Given the description of an element on the screen output the (x, y) to click on. 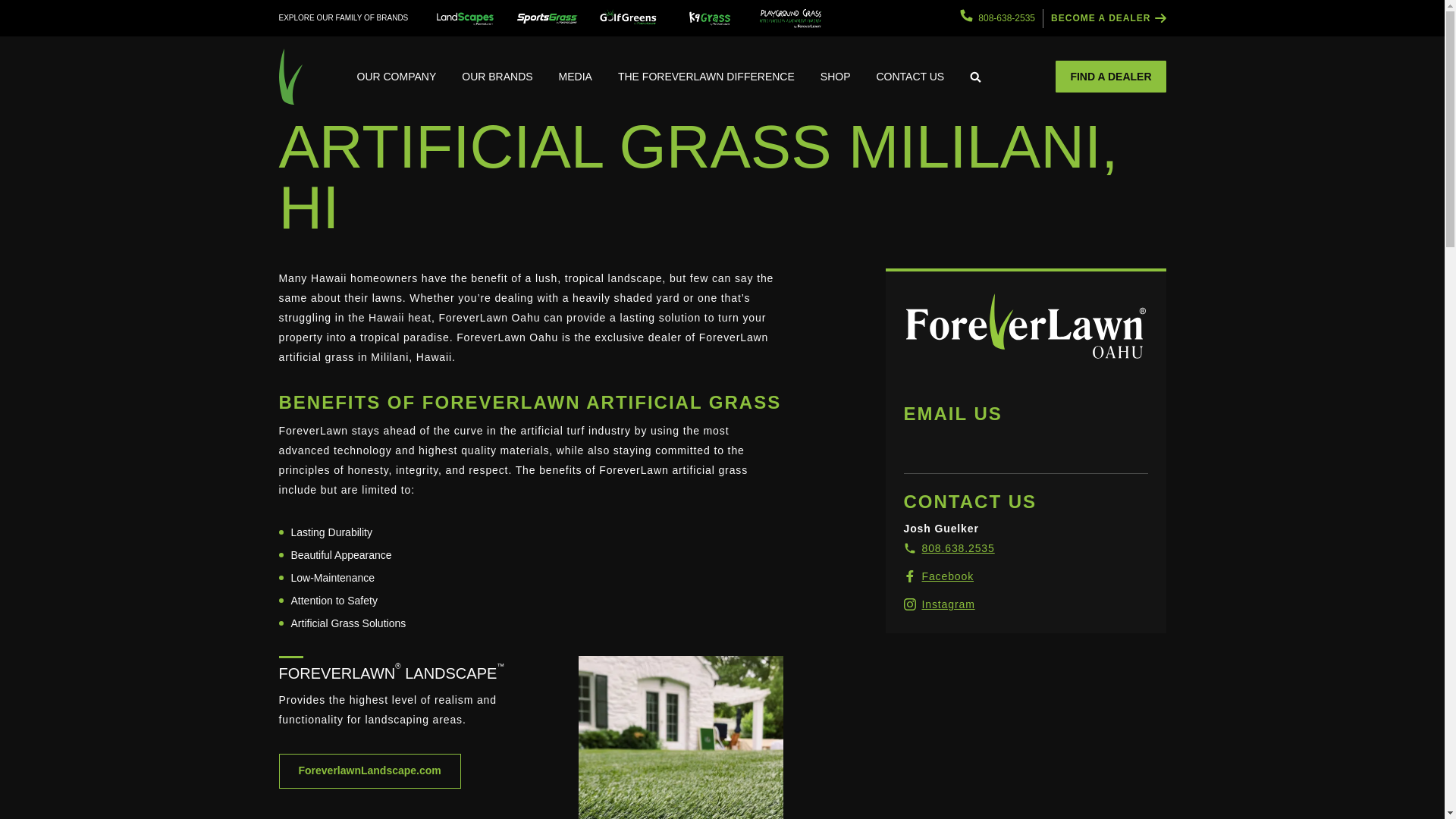
OUR BRANDS (496, 76)
THE FOREVERLAWN DIFFERENCE (706, 76)
Landscape01 (680, 737)
Instagram (939, 604)
OUR COMPANY (396, 76)
SHOP (835, 76)
CONTACT US (909, 76)
808-638-2535 (997, 18)
Facebook (939, 576)
BECOME A DEALER (1108, 18)
MEDIA (575, 76)
808.638.2535 (949, 547)
FIND A DEALER (1110, 76)
ForeverlawnLandscape.com (370, 770)
